Given the description of an element on the screen output the (x, y) to click on. 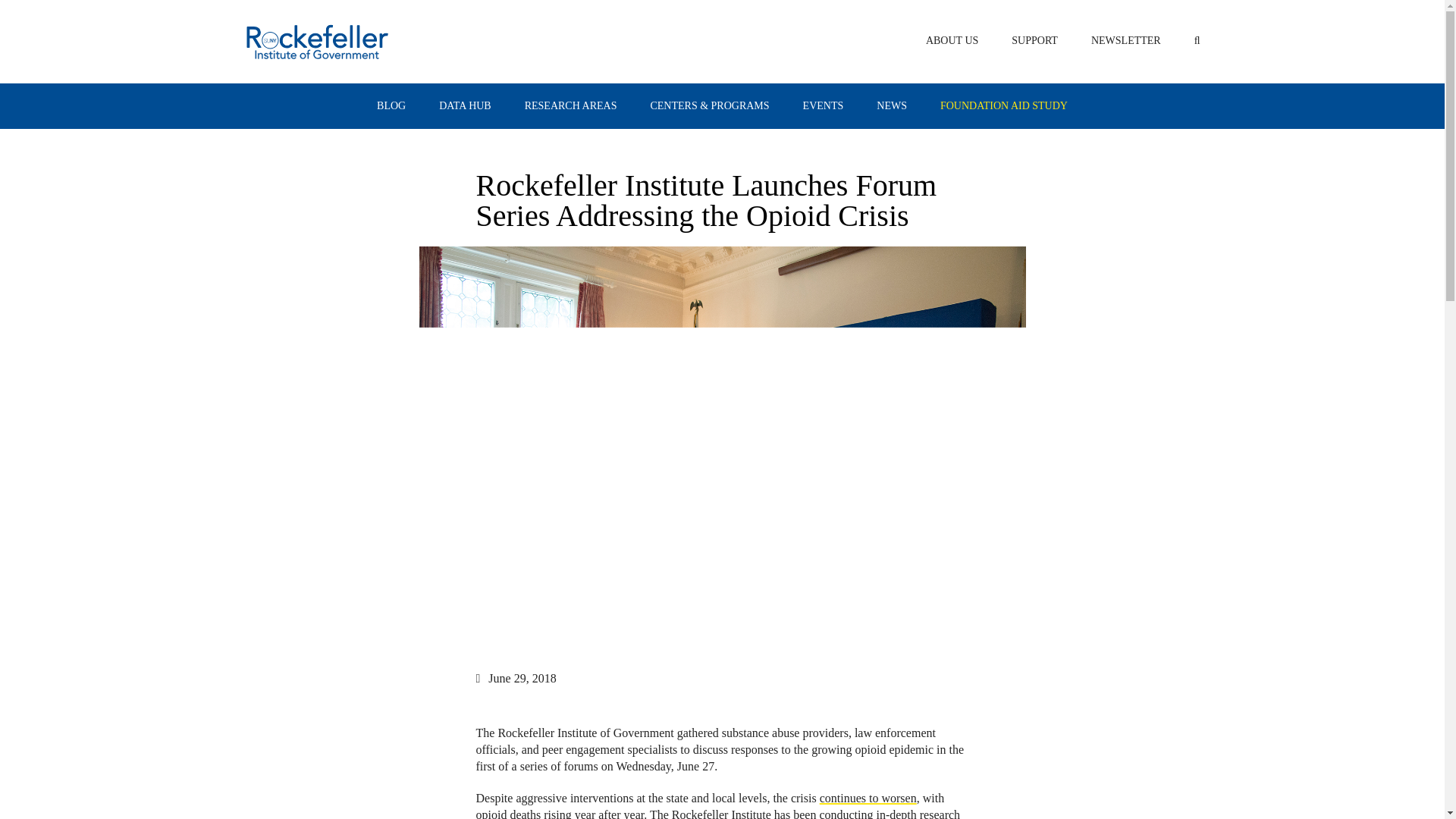
RESEARCH AREAS (570, 105)
DATA HUB (465, 105)
EVENTS (823, 105)
NEWSLETTER (1125, 40)
ABOUT US (952, 40)
SUPPORT (1034, 40)
